Given the description of an element on the screen output the (x, y) to click on. 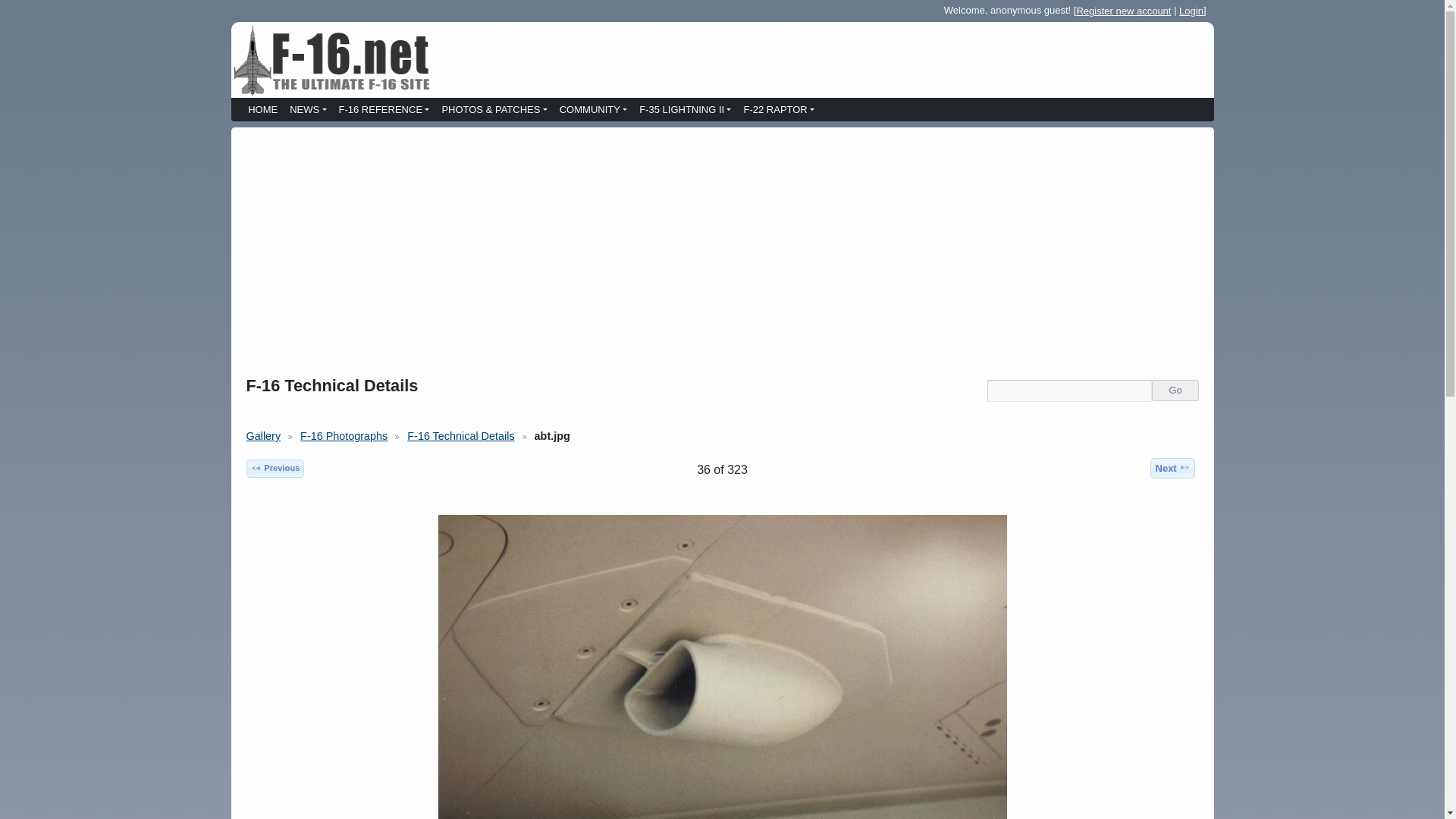
COMMUNITY (593, 110)
HOME (262, 110)
F-16.net homepage (330, 58)
Photos and Patches (494, 110)
F-16 Reference (384, 110)
Community (593, 110)
News (307, 110)
F-22 Raptor (778, 110)
F-16.net homepage (262, 110)
F-35 Lightning II (684, 110)
